Given the description of an element on the screen output the (x, y) to click on. 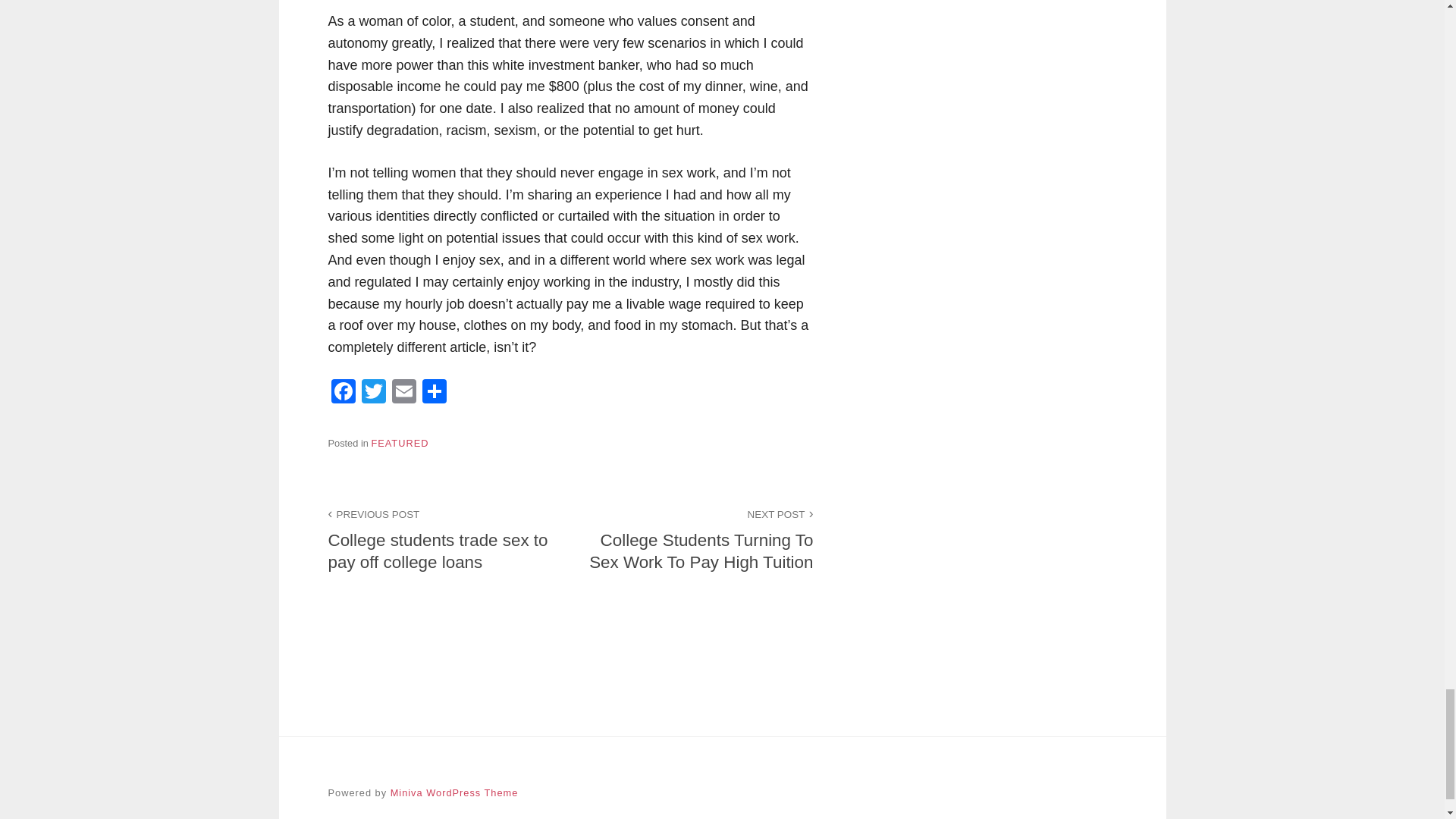
FEATURED (399, 442)
Twitter (373, 393)
Facebook (342, 393)
Email (403, 393)
Twitter (373, 393)
Facebook (342, 393)
Share (433, 393)
Miniva WordPress Theme (454, 792)
Email (403, 393)
